Given the description of an element on the screen output the (x, y) to click on. 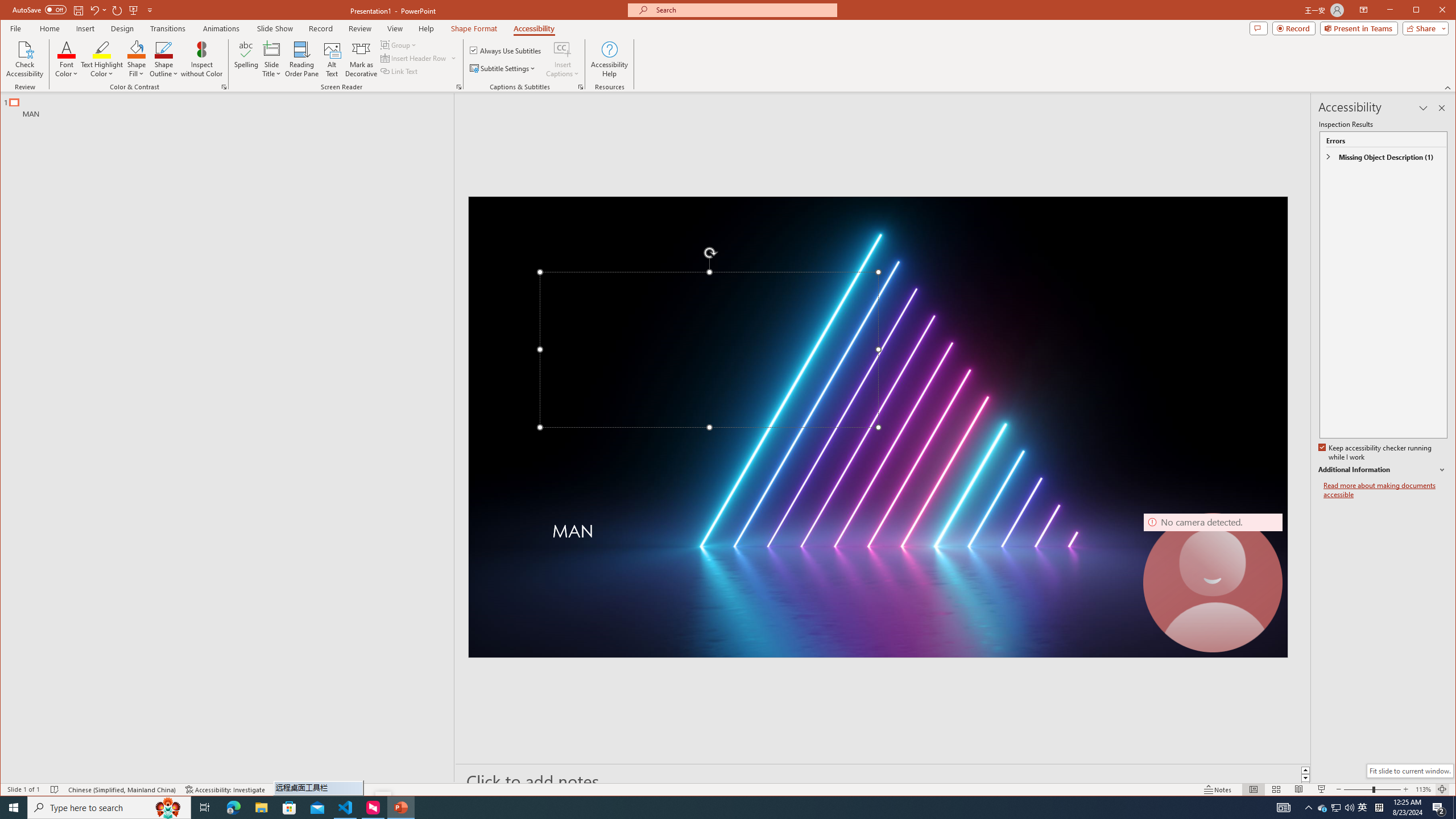
Spelling... (246, 59)
Screen Reader (458, 86)
Insert Captions (1322, 807)
Insert Captions (562, 48)
